Given the description of an element on the screen output the (x, y) to click on. 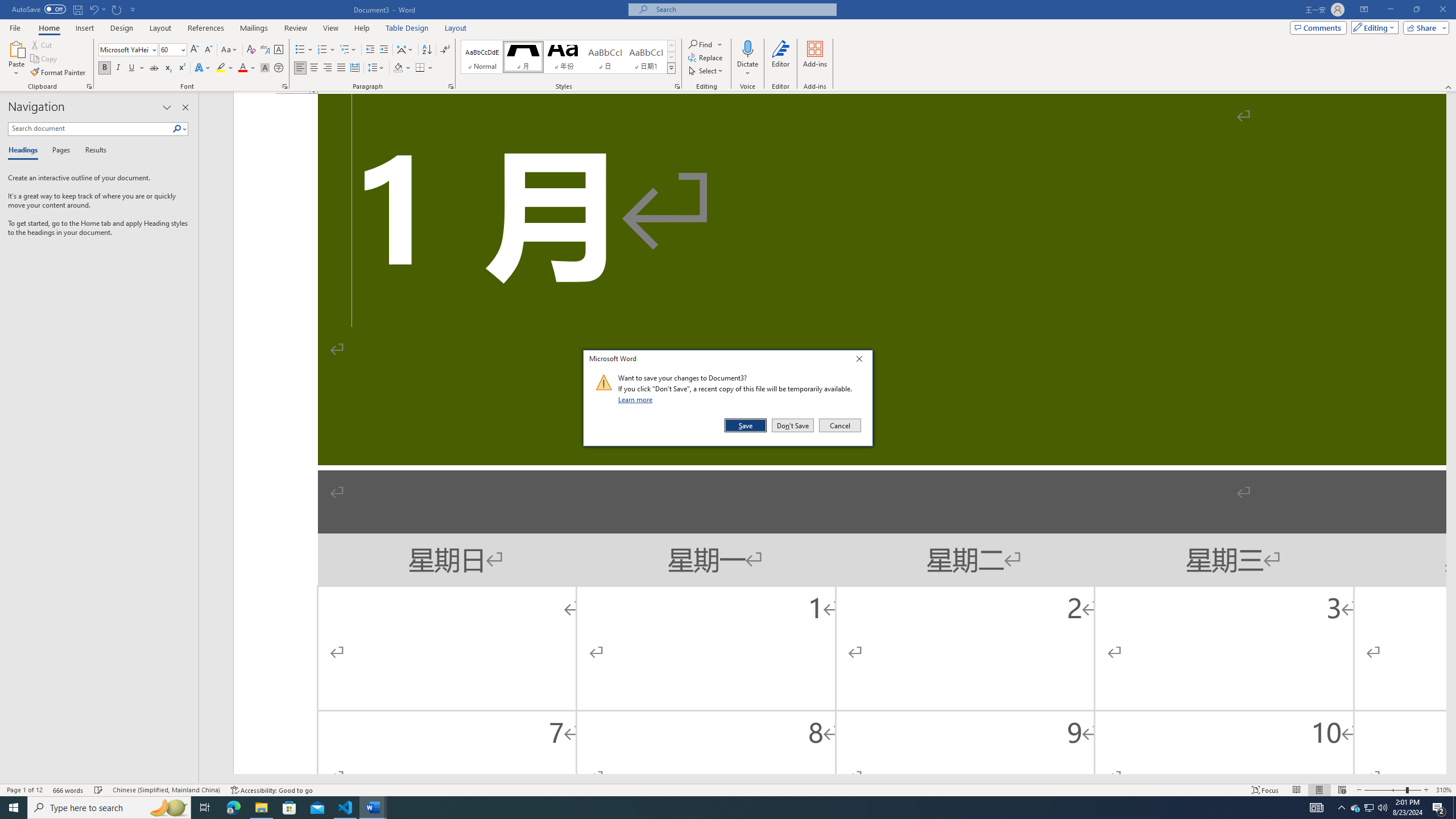
Select (705, 69)
Results (91, 150)
Task View (204, 807)
Office Clipboard... (88, 85)
Show/Hide Editing Marks (444, 49)
Distributed (354, 67)
